Given the description of an element on the screen output the (x, y) to click on. 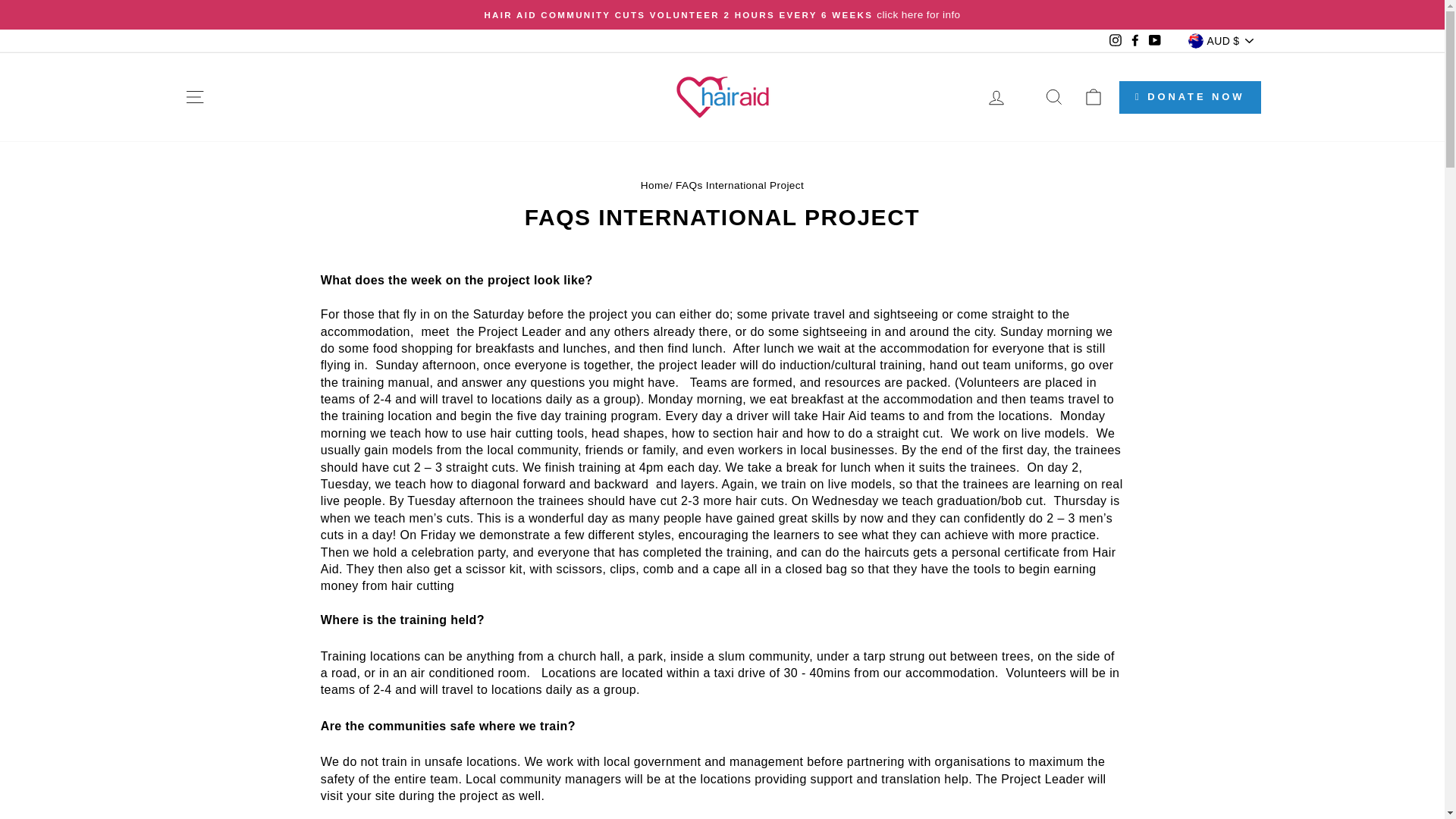
Instagram (1115, 41)
Facebook (1134, 41)
HAIR AID on Facebook (1134, 41)
YouTube (1154, 41)
Back to the frontpage (654, 184)
HAIR AID on Instagram (1115, 41)
HAIR AID on YouTube (1154, 41)
